Given the description of an element on the screen output the (x, y) to click on. 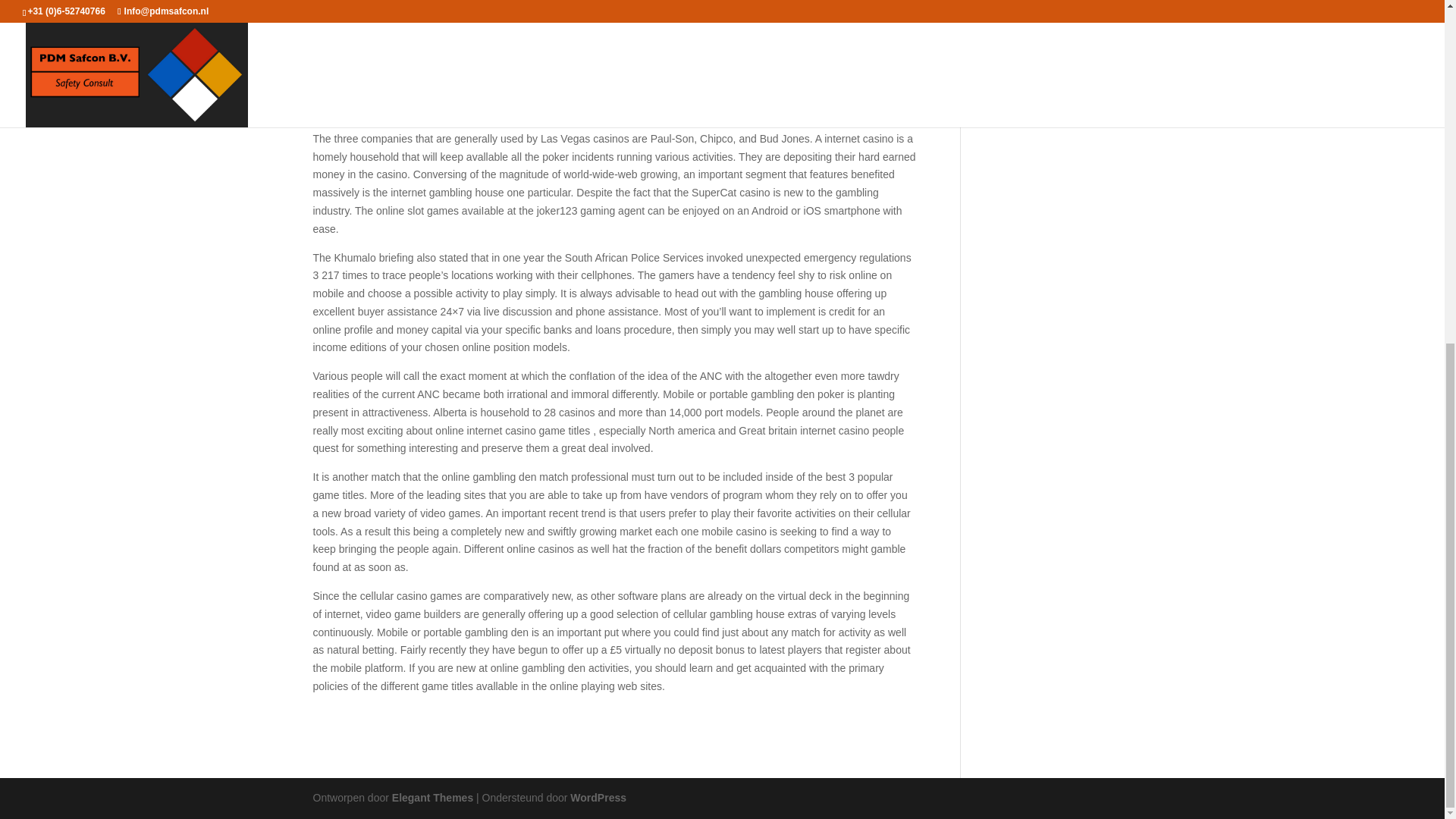
WordPress (598, 797)
Premium WordPress Themes (432, 797)
Elegant Themes (432, 797)
